Given the description of an element on the screen output the (x, y) to click on. 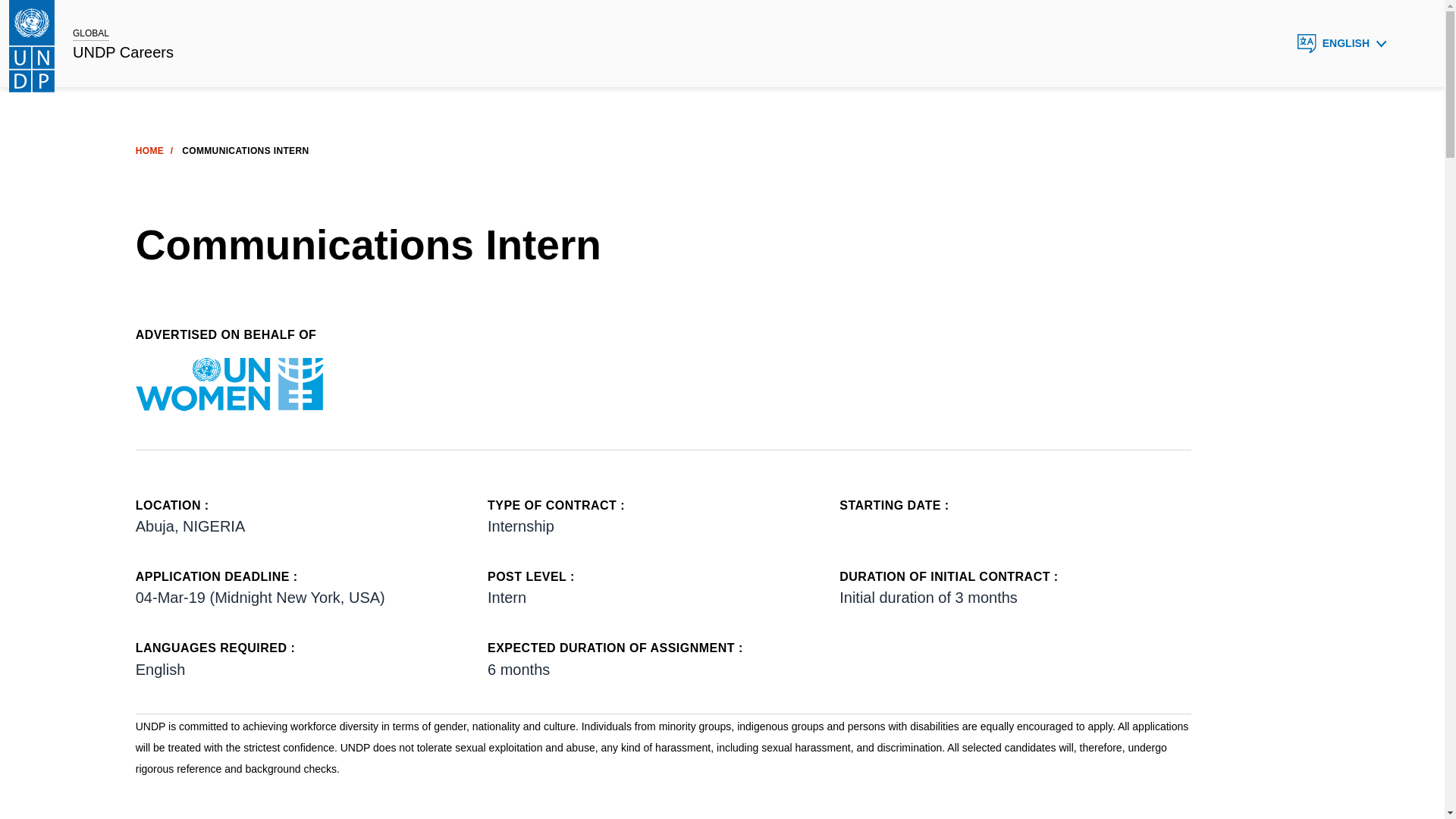
UNDP Careers (122, 52)
HOME (149, 150)
GLOBAL (90, 32)
ENGLISH (1342, 43)
